Given the description of an element on the screen output the (x, y) to click on. 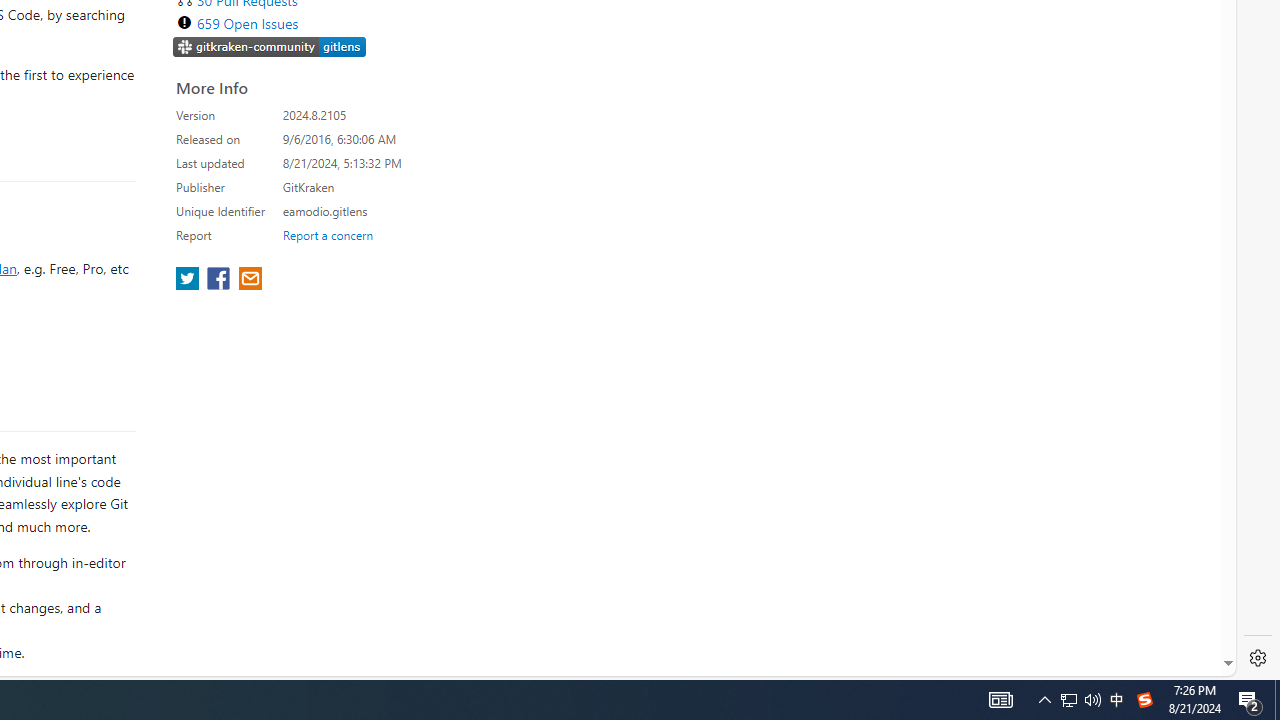
share extension on twitter (190, 280)
share extension on facebook (220, 280)
https://slack.gitkraken.com// (269, 46)
https://slack.gitkraken.com// (269, 48)
share extension on email (249, 280)
Report a concern (327, 234)
